Given the description of an element on the screen output the (x, y) to click on. 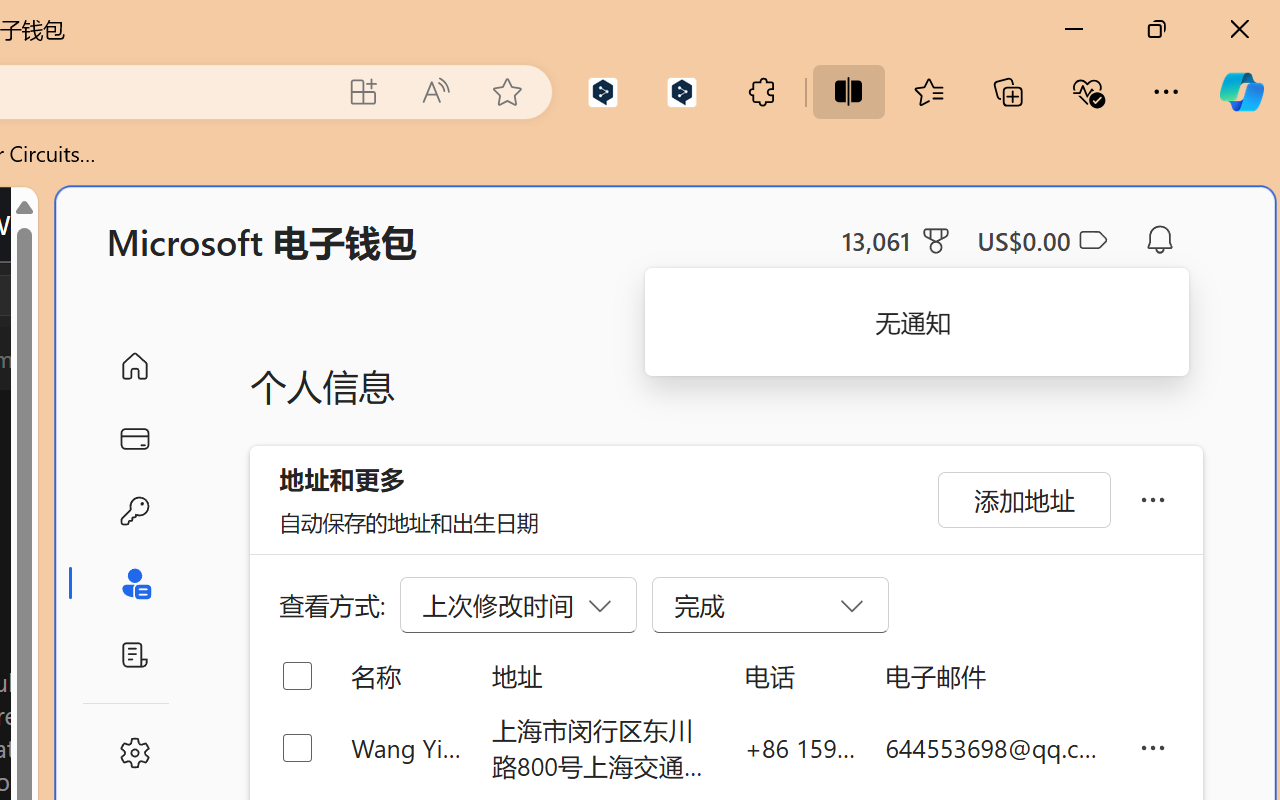
Class: actions-container (94, 295)
Wang Yian (406, 747)
+86 159 0032 4640 (799, 747)
